Given the description of an element on the screen output the (x, y) to click on. 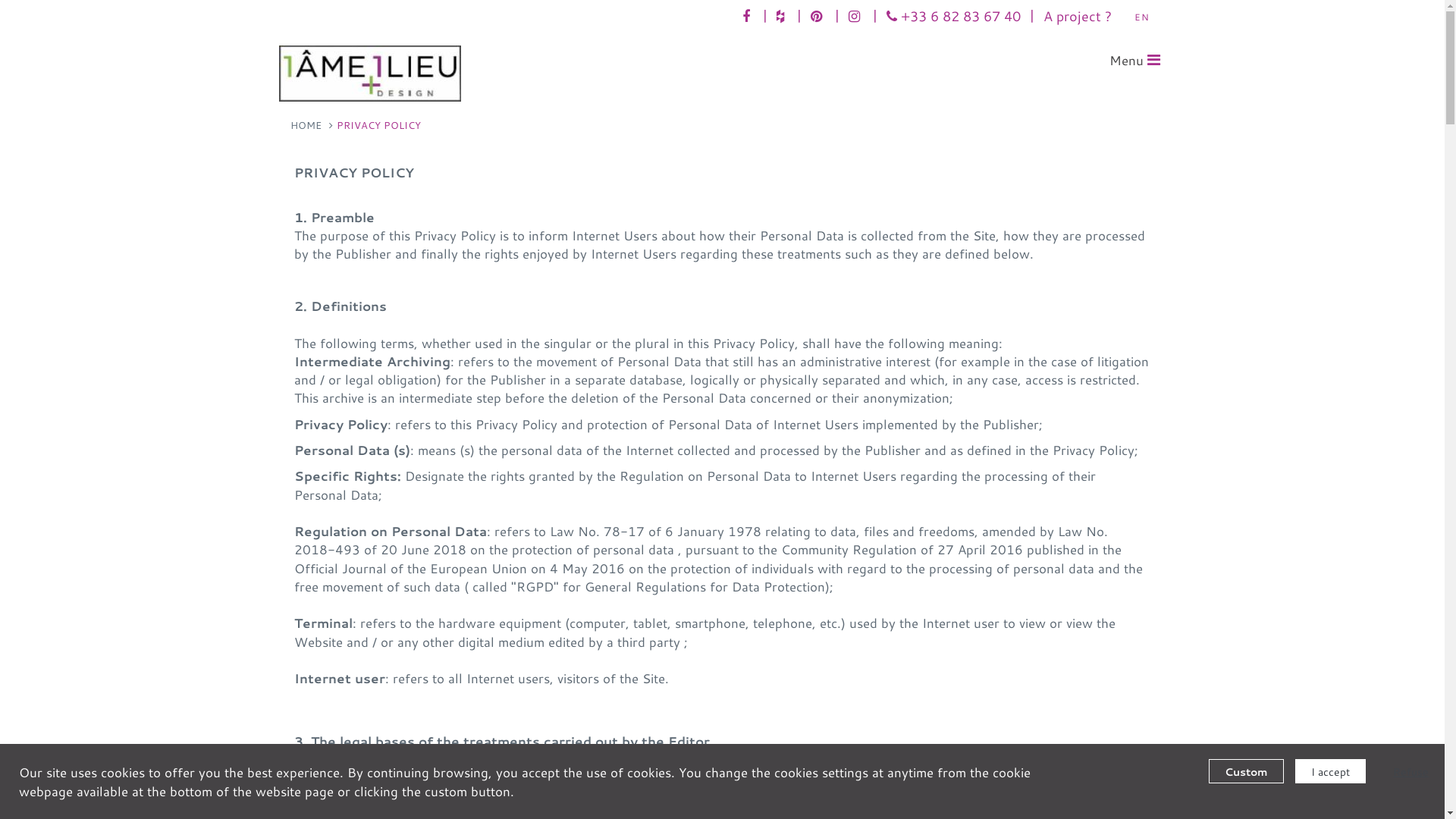
 +33 6 82 83 67 40 Element type: text (952, 15)
Custom Element type: text (1245, 771)
  Element type: text (817, 15)
  Element type: text (747, 15)
A project ? Element type: text (1077, 15)
HOME Element type: text (304, 124)
EN Element type: text (1141, 16)
I accept Element type: text (1330, 771)
Refuse Element type: text (1403, 771)
Menu Element type: text (1133, 60)
  Element type: text (781, 15)
  Element type: text (854, 15)
